Given the description of an element on the screen output the (x, y) to click on. 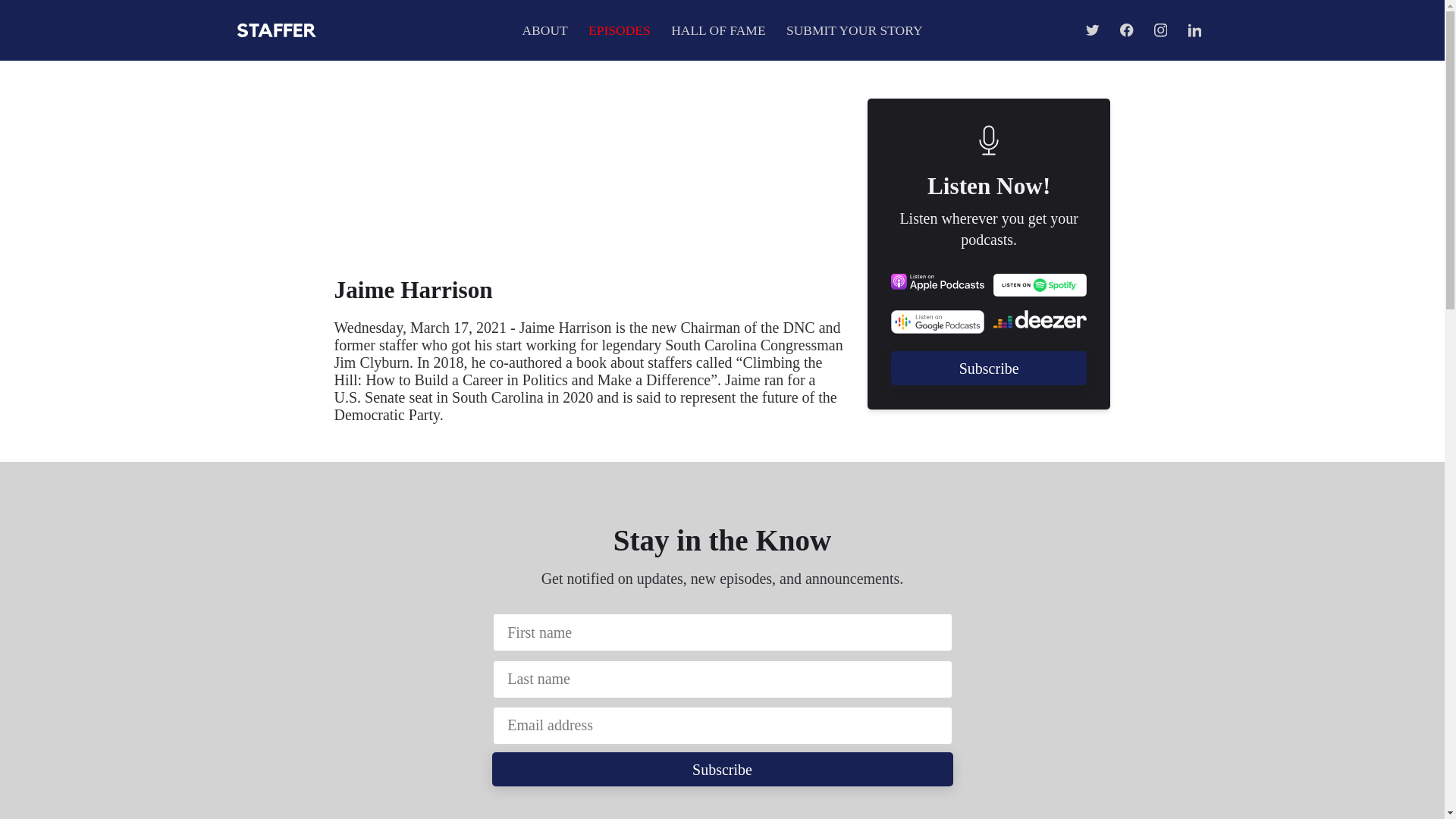
Subscribe (722, 769)
SUBMIT YOUR STORY (854, 30)
ABOUT (544, 30)
Subscribe (988, 367)
Subscribe (988, 368)
EPISODES (619, 30)
HALL OF FAME (718, 30)
